Given the description of an element on the screen output the (x, y) to click on. 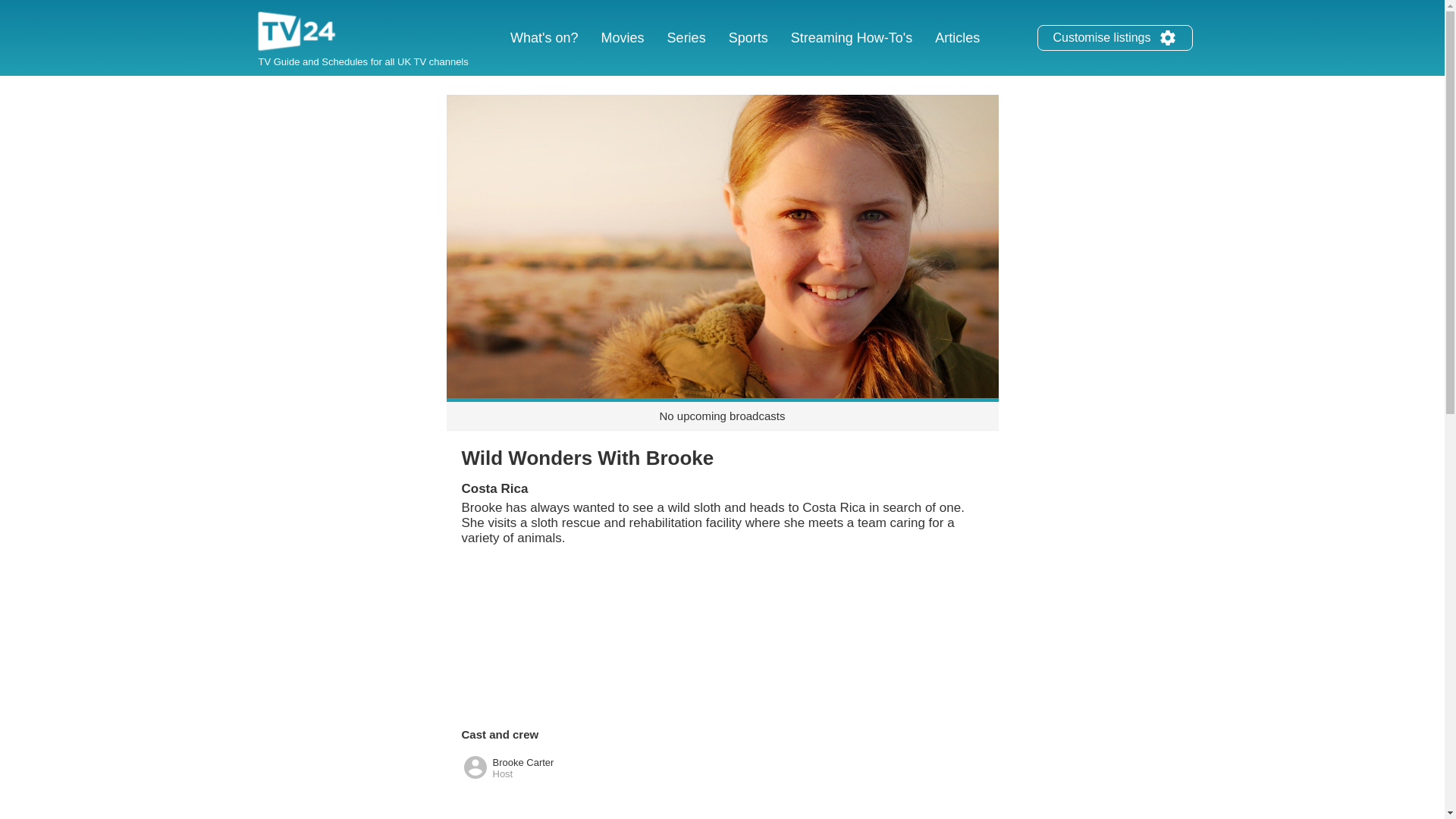
Movies (621, 37)
Customise listings (1167, 37)
Articles (957, 37)
Series (686, 37)
TV24.co.uk (296, 33)
Streaming How-To's (852, 37)
Sports (748, 37)
What's on? (543, 37)
Customise listings (1114, 37)
